Given the description of an element on the screen output the (x, y) to click on. 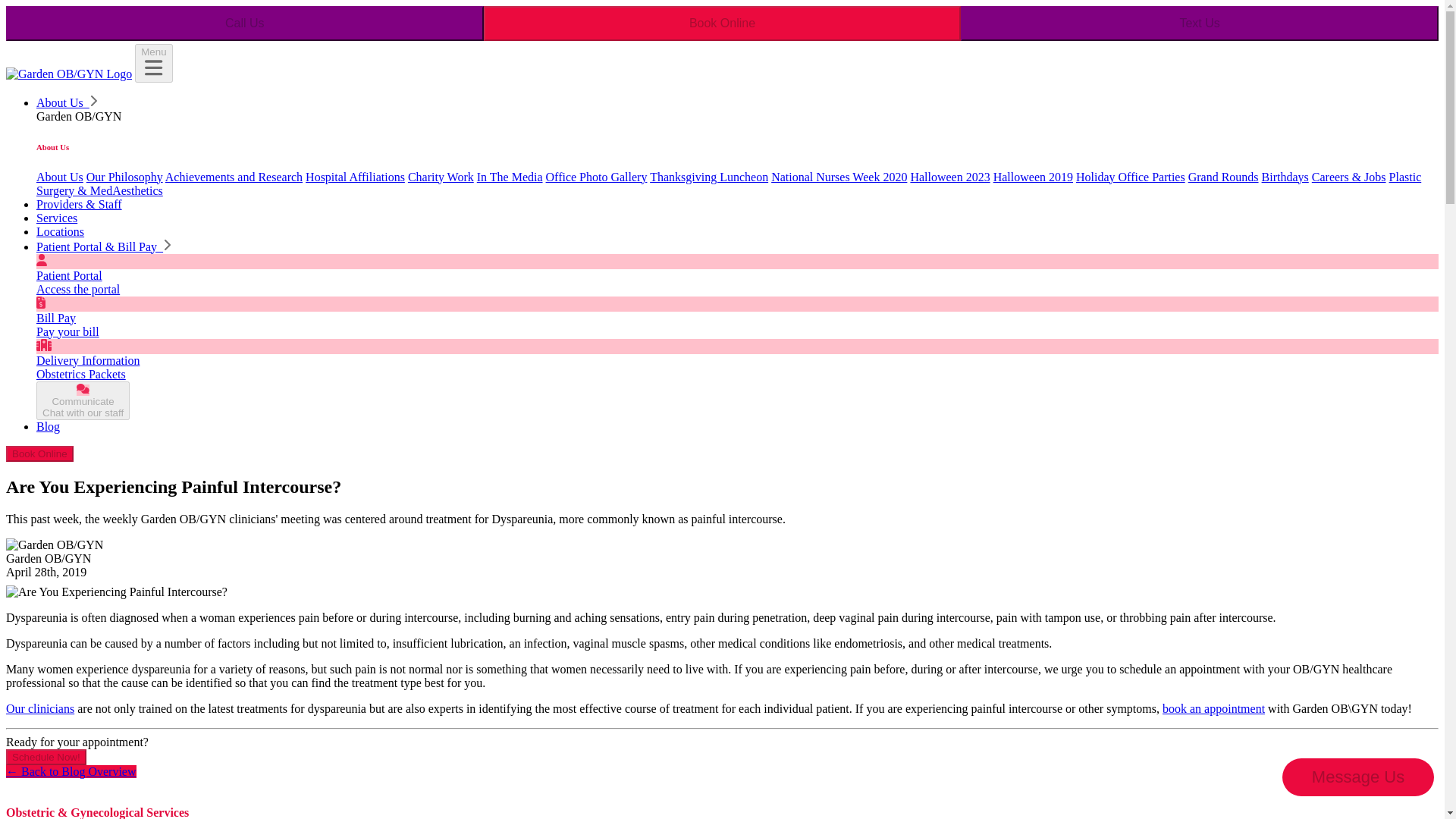
Services (56, 217)
book an appointment (82, 400)
Charity Work (1213, 707)
About Us  (440, 176)
Office Photo Gallery (66, 102)
Halloween 2023 (596, 176)
Birthdays (950, 176)
About Us (1285, 176)
Grand Rounds (59, 176)
Book Online (1223, 176)
Our Philosophy (721, 22)
In The Media (124, 176)
National Nurses Week 2020 (510, 176)
Locations (839, 176)
